Given the description of an element on the screen output the (x, y) to click on. 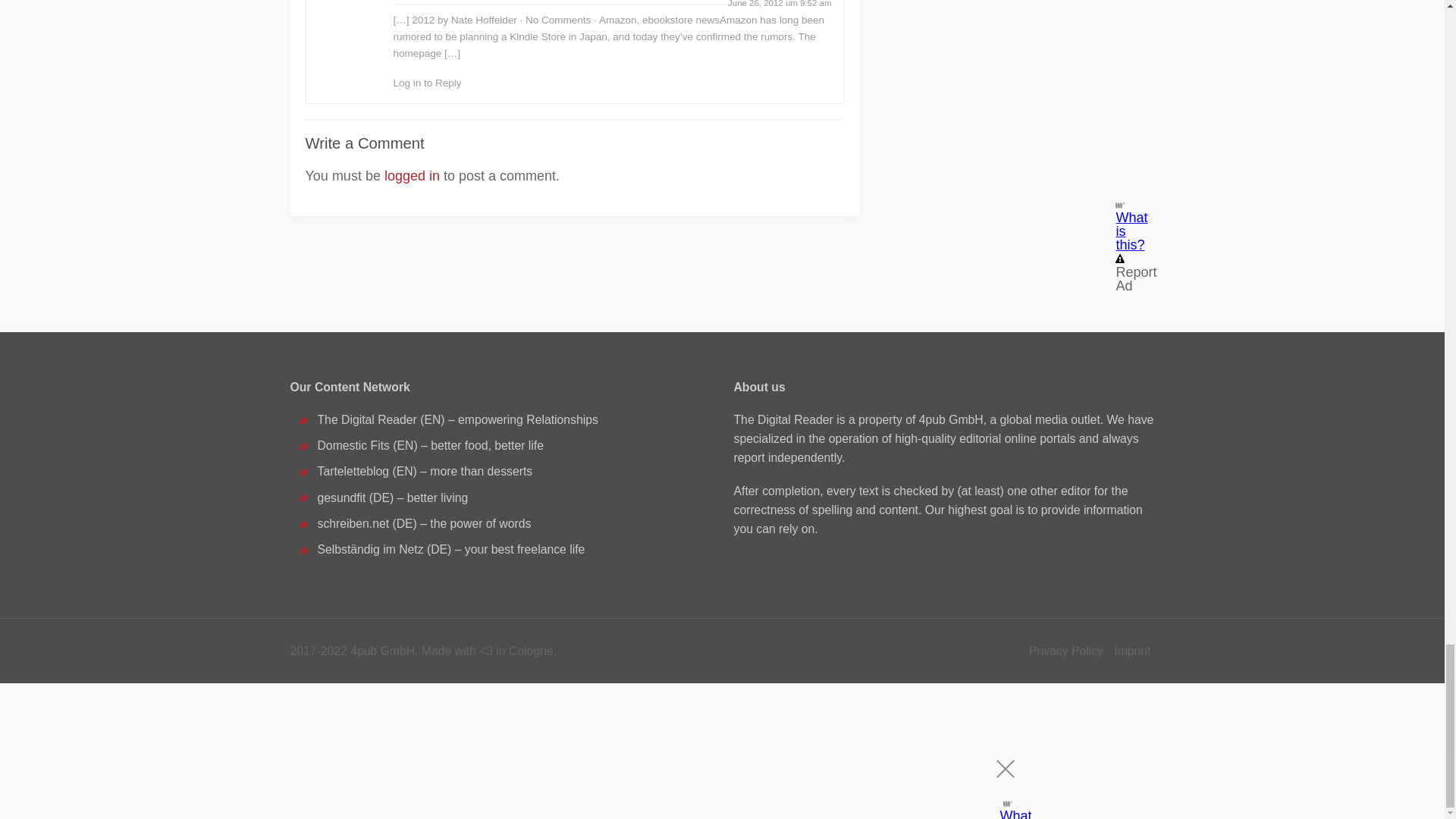
Log in to Reply (427, 82)
logged in (411, 175)
